Given the description of an element on the screen output the (x, y) to click on. 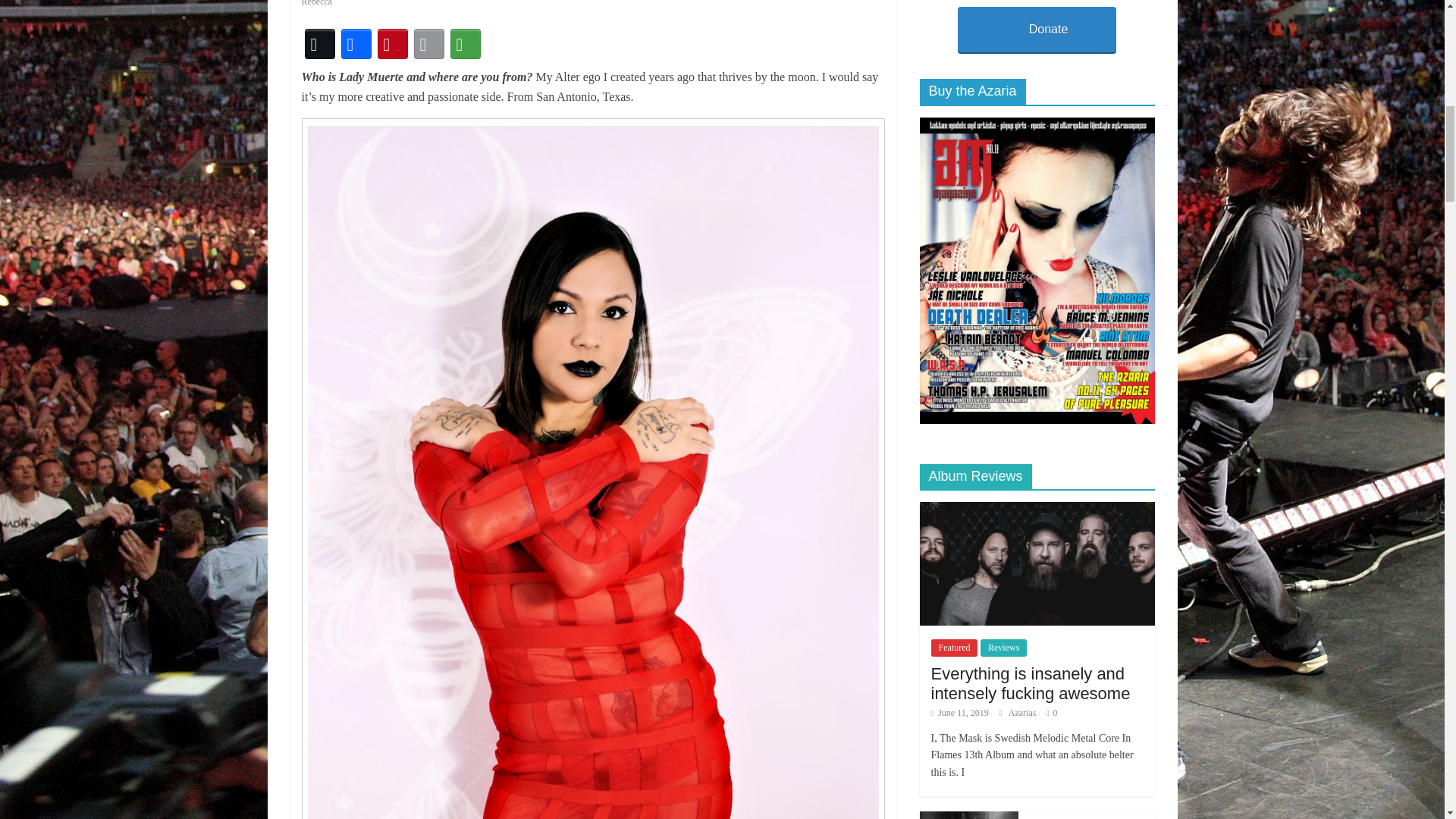
Email This (428, 43)
Everything is insanely and intensely fucking awesome (1036, 509)
Pinterest (392, 43)
More Options (464, 43)
Buy the Azaria Magazine Online (1036, 125)
Facebook (355, 43)
Rebecca (317, 3)
Everything is insanely and intensely fucking awesome (1036, 563)
